Given the description of an element on the screen output the (x, y) to click on. 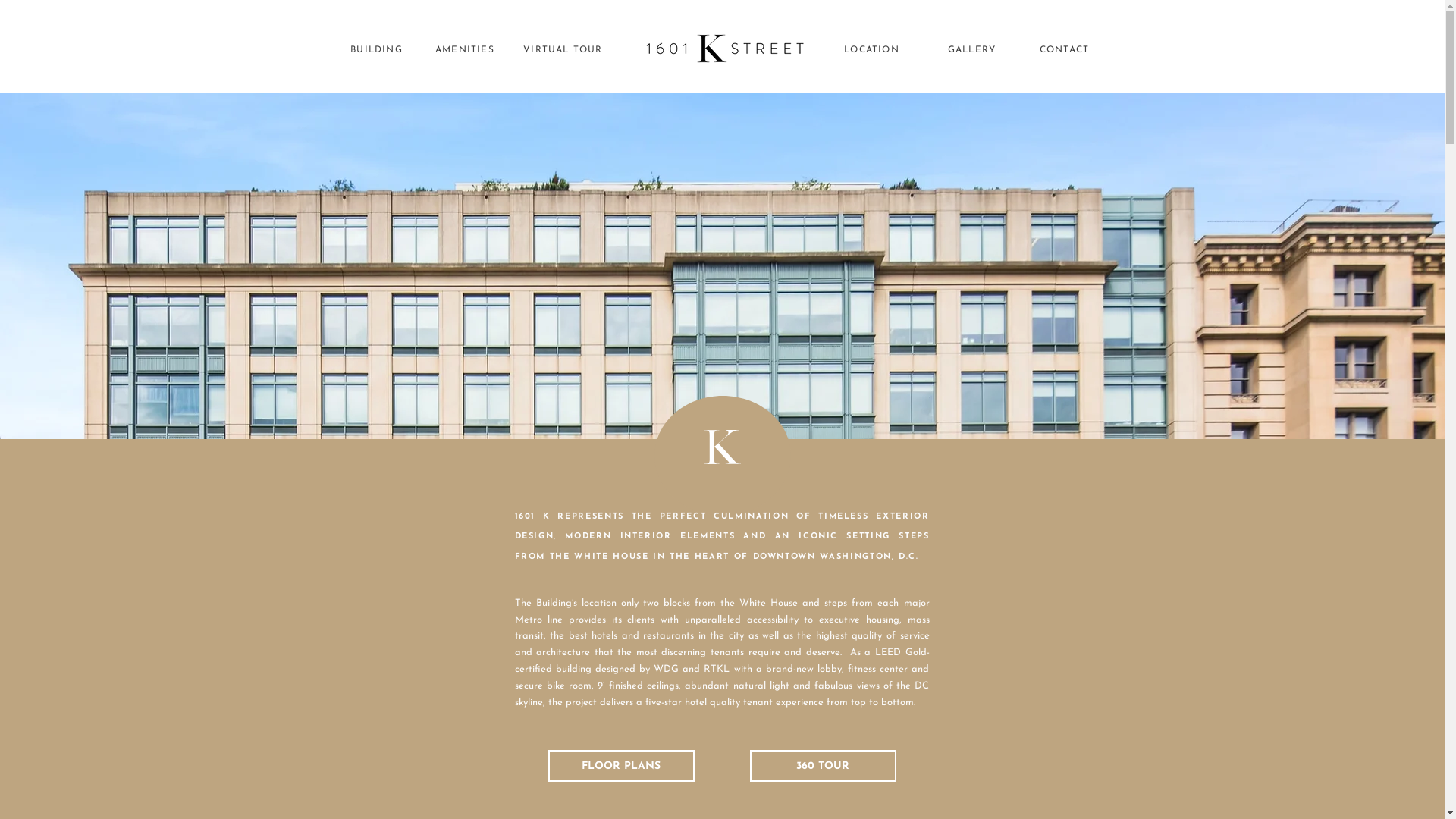
GALLERY Element type: text (973, 49)
FLOOR PLANS Element type: text (620, 765)
360 TOUR Element type: text (822, 765)
BUILDING Element type: text (377, 49)
AMENITIES Element type: text (466, 49)
CONTACT Element type: text (1065, 49)
LOCATION Element type: text (873, 49)
VIRTUAL TOUR Element type: text (564, 49)
